Given the description of an element on the screen output the (x, y) to click on. 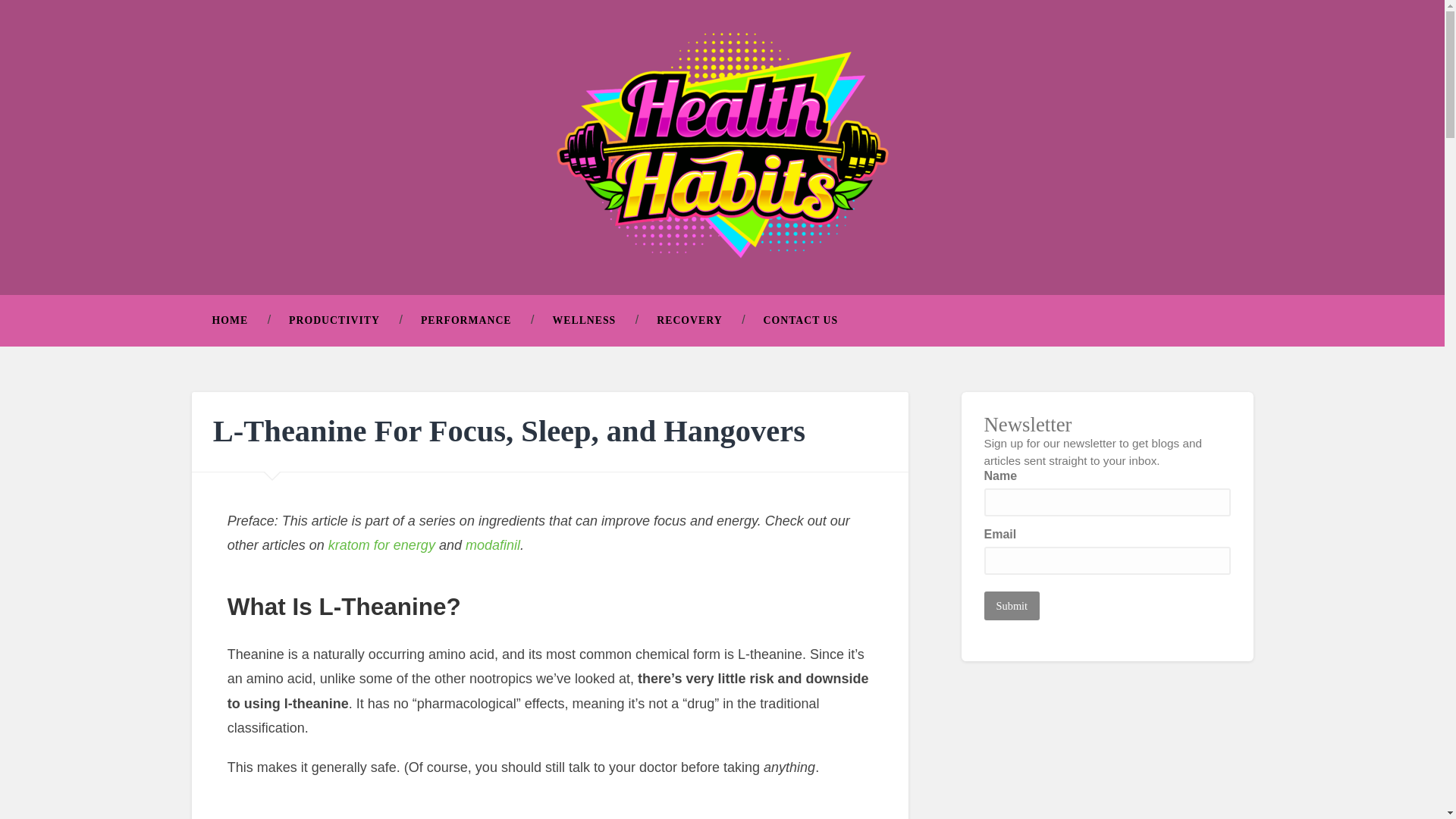
kratom for energy (382, 544)
L-Theanine For Focus, Sleep, and Hangovers (508, 430)
WELLNESS (584, 320)
modafinil (492, 544)
PRODUCTIVITY (333, 320)
CONTACT US (800, 320)
RECOVERY (689, 320)
PERFORMANCE (466, 320)
Submit (1012, 605)
HOME (228, 320)
